Given the description of an element on the screen output the (x, y) to click on. 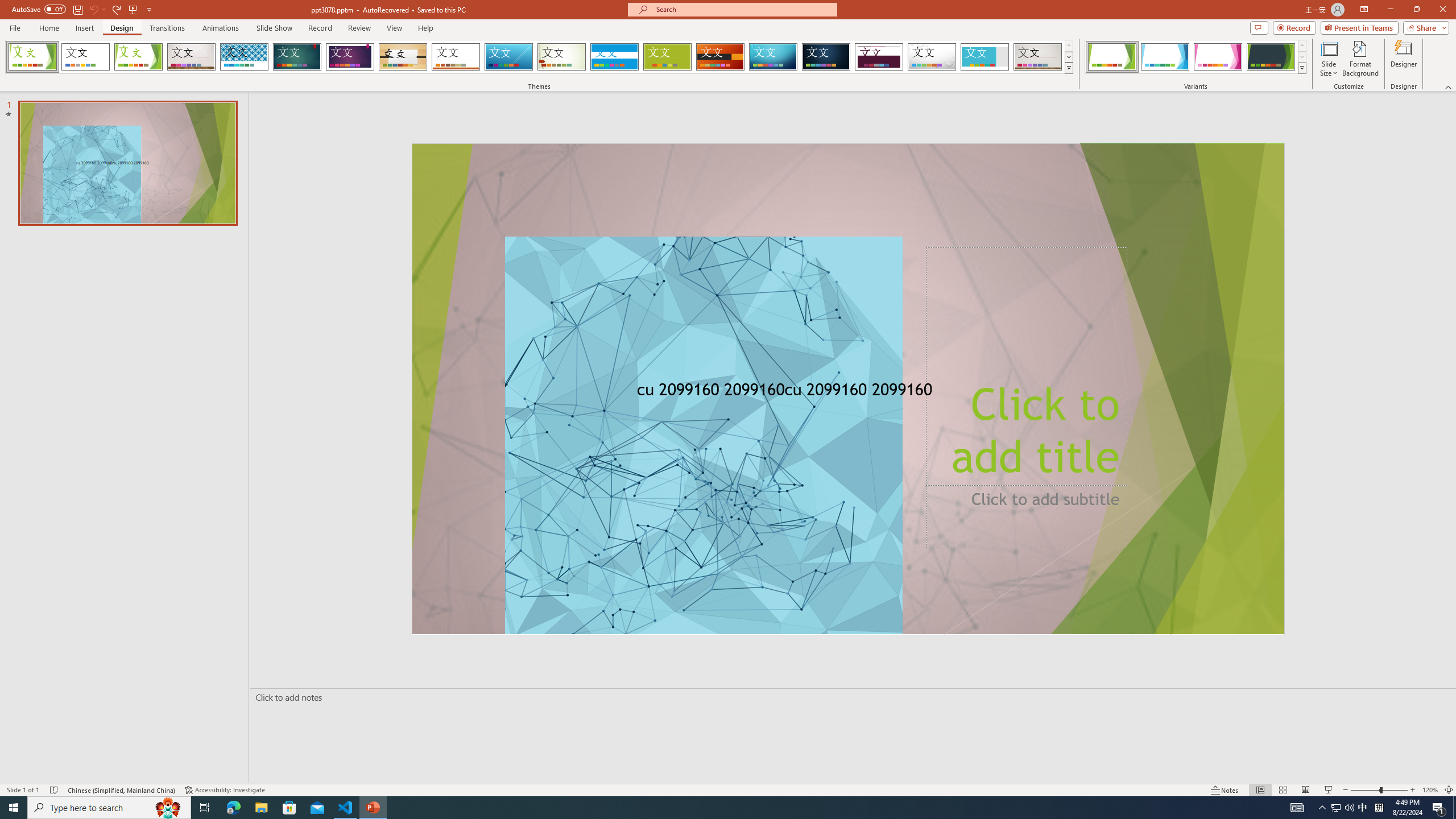
Slice Loading Preview... (508, 56)
Slide Size (1328, 58)
Facet (138, 56)
Format Background (1360, 58)
Ion Loading Preview... (296, 56)
Themes (1068, 67)
Facet Variant 1 (1112, 56)
